Given the description of an element on the screen output the (x, y) to click on. 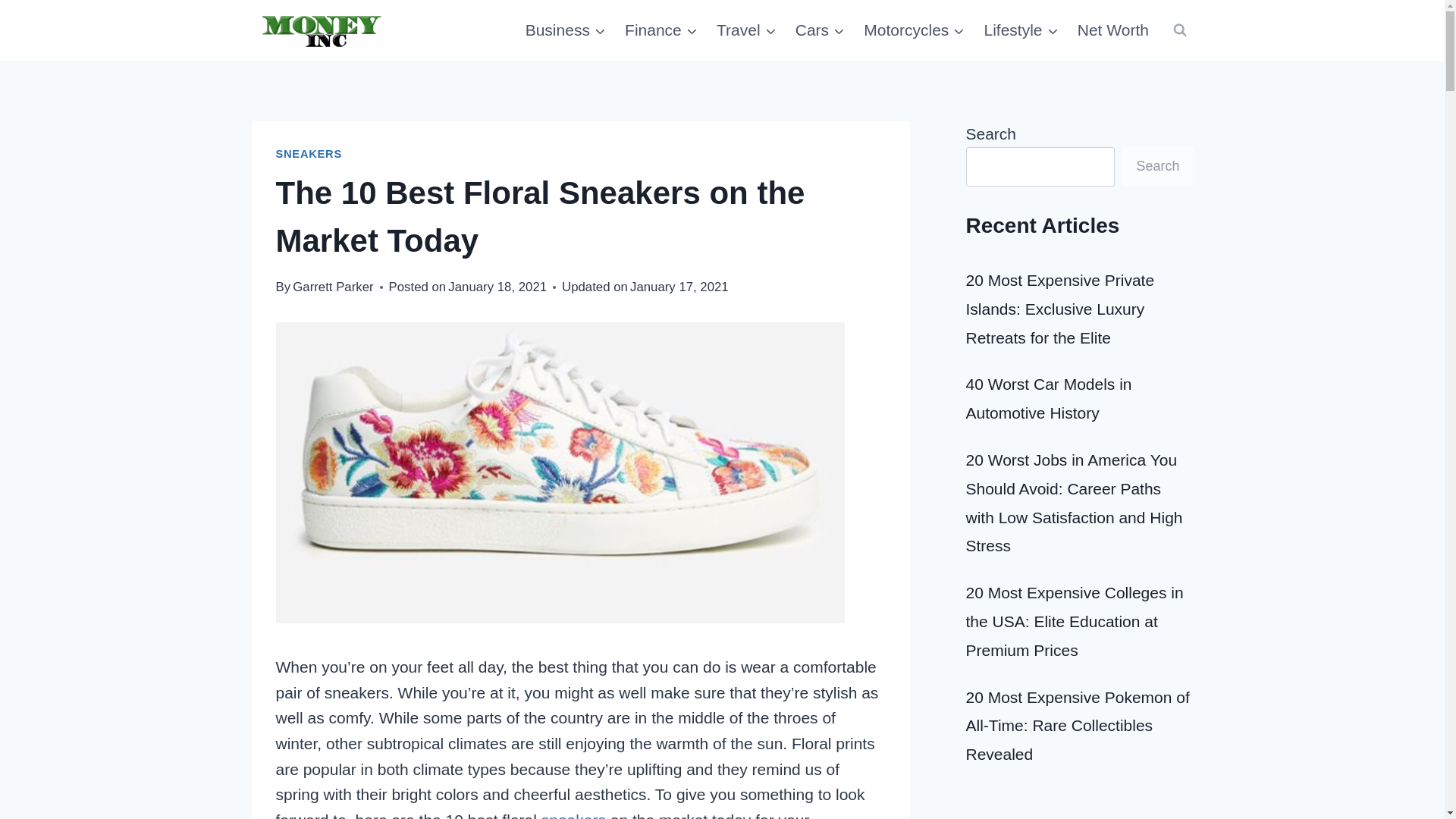
Travel (746, 30)
Cars (820, 30)
Business (564, 30)
Finance (661, 30)
